Given the description of an element on the screen output the (x, y) to click on. 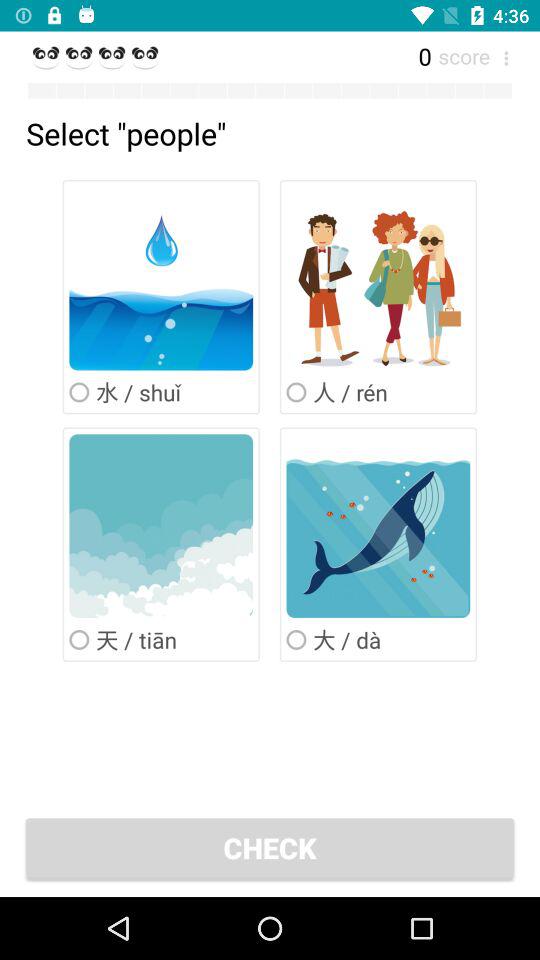
select check item (269, 847)
